Given the description of an element on the screen output the (x, y) to click on. 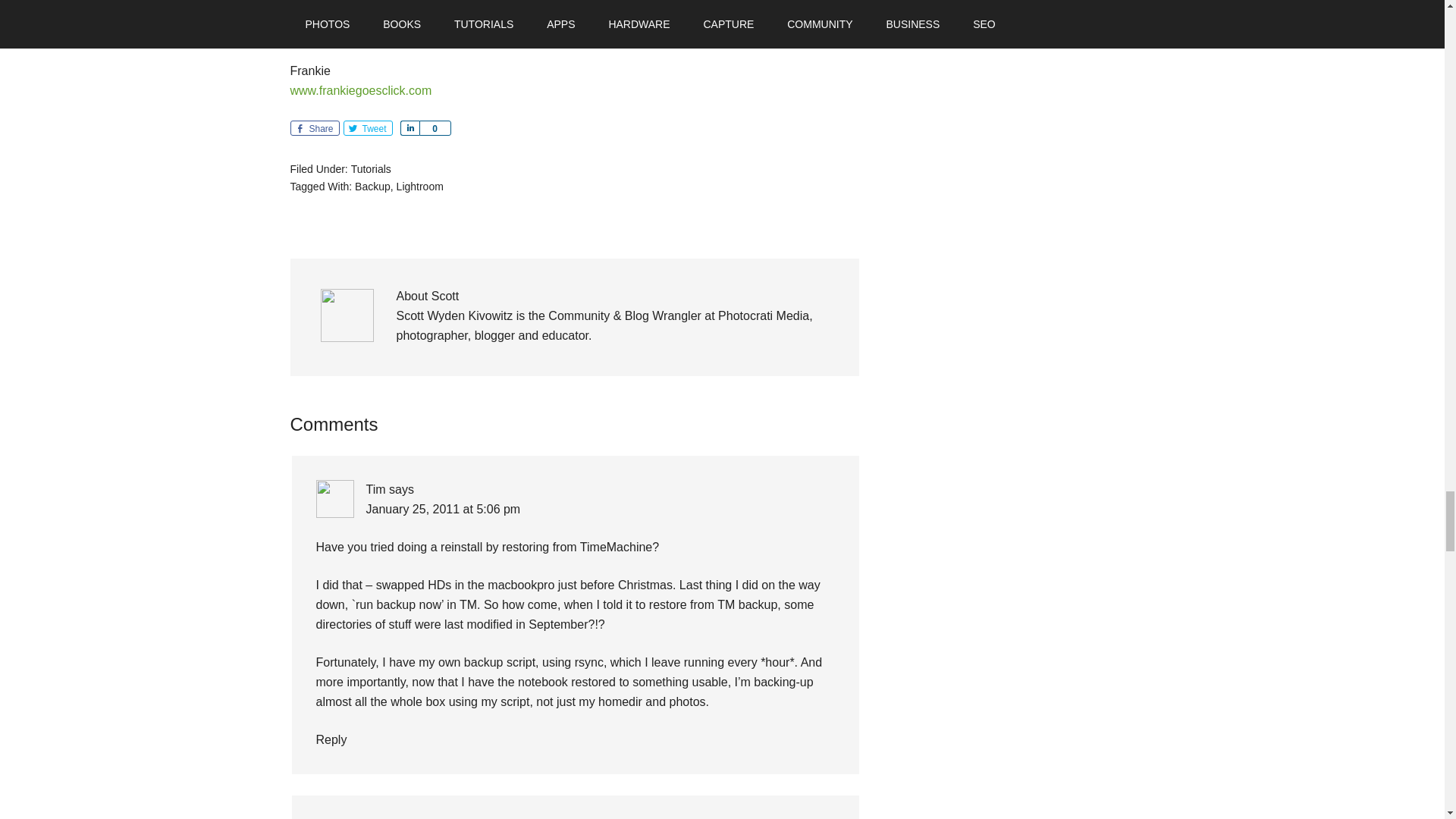
Share (314, 127)
Backup (372, 186)
January 25, 2011 at 5:06 pm (442, 508)
Tim (375, 489)
Tutorials (370, 168)
Share (409, 127)
Reply (330, 739)
0 (434, 127)
www.frankiegoesclick.com (359, 90)
Tweet (366, 127)
